Given the description of an element on the screen output the (x, y) to click on. 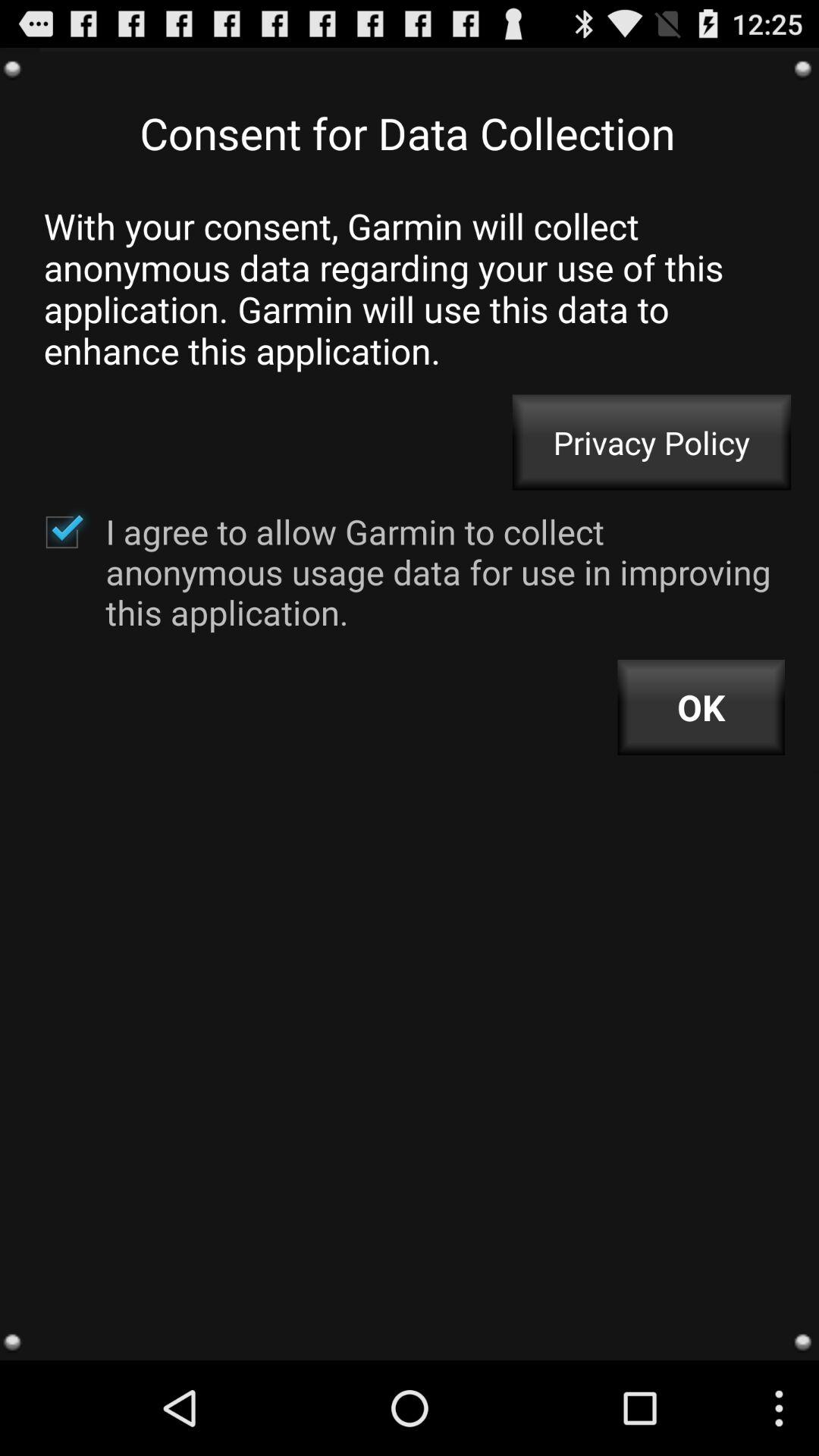
check box to agree (61, 532)
